Given the description of an element on the screen output the (x, y) to click on. 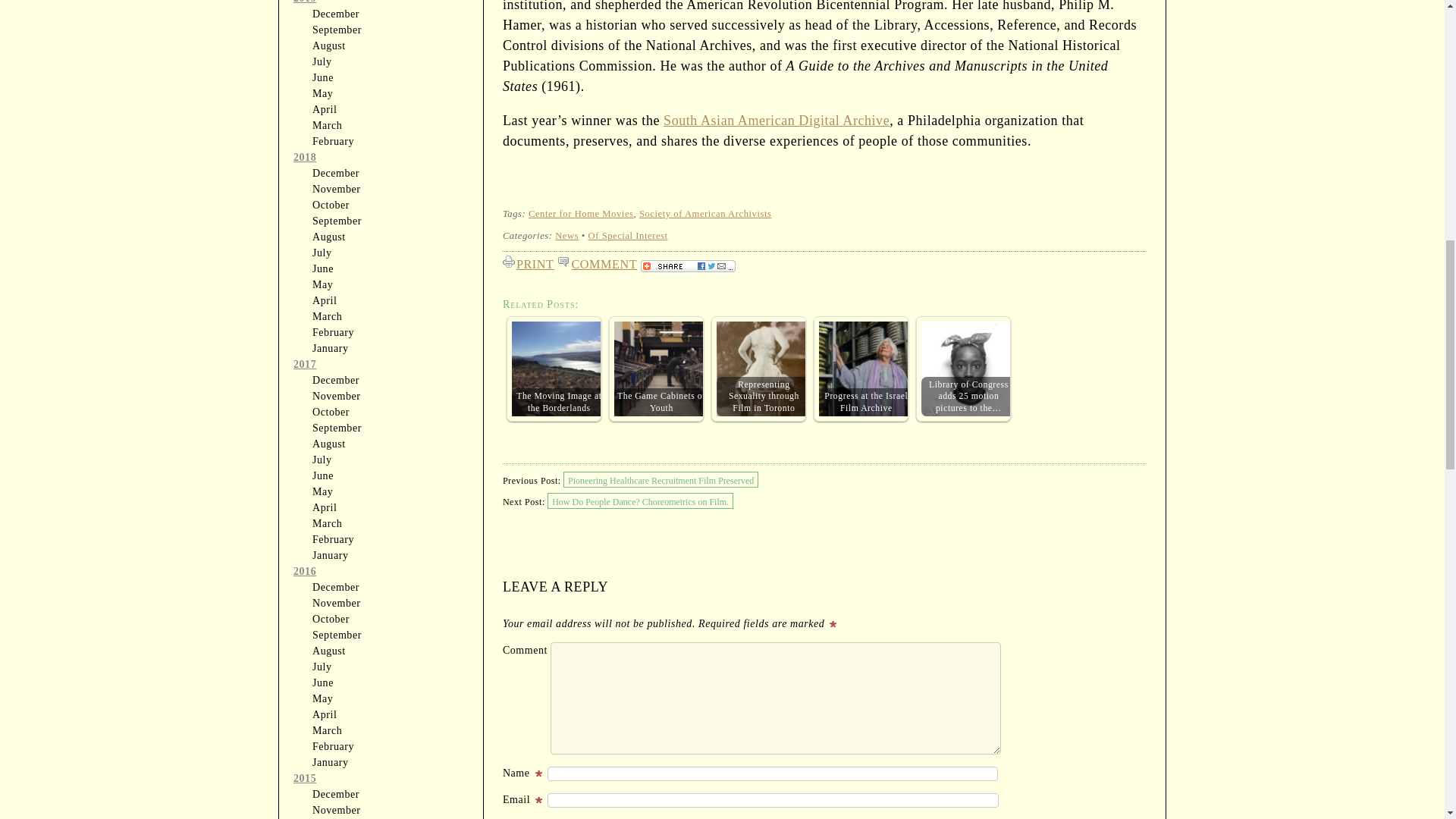
Representing Sexuality through Film in Toronto (763, 368)
The Moving Image at the Borderlands (559, 368)
Society of American Archivists (705, 213)
The Moving Image at the Borderlands (559, 368)
How Do People Dance? Choreometrics on Film. (640, 500)
Of Special Interest (628, 235)
The Game Cabinets of Youth (661, 368)
PRINT (529, 261)
Representing Sexuality through Film in Toronto (763, 368)
Pioneering Healthcare Recruitment Film Preserved (660, 479)
Progress at the Israel Film Archive (866, 368)
Progress at the Israel Film Archive (866, 368)
The Game Cabinets of Youth (661, 368)
COMMENT (598, 261)
